Given the description of an element on the screen output the (x, y) to click on. 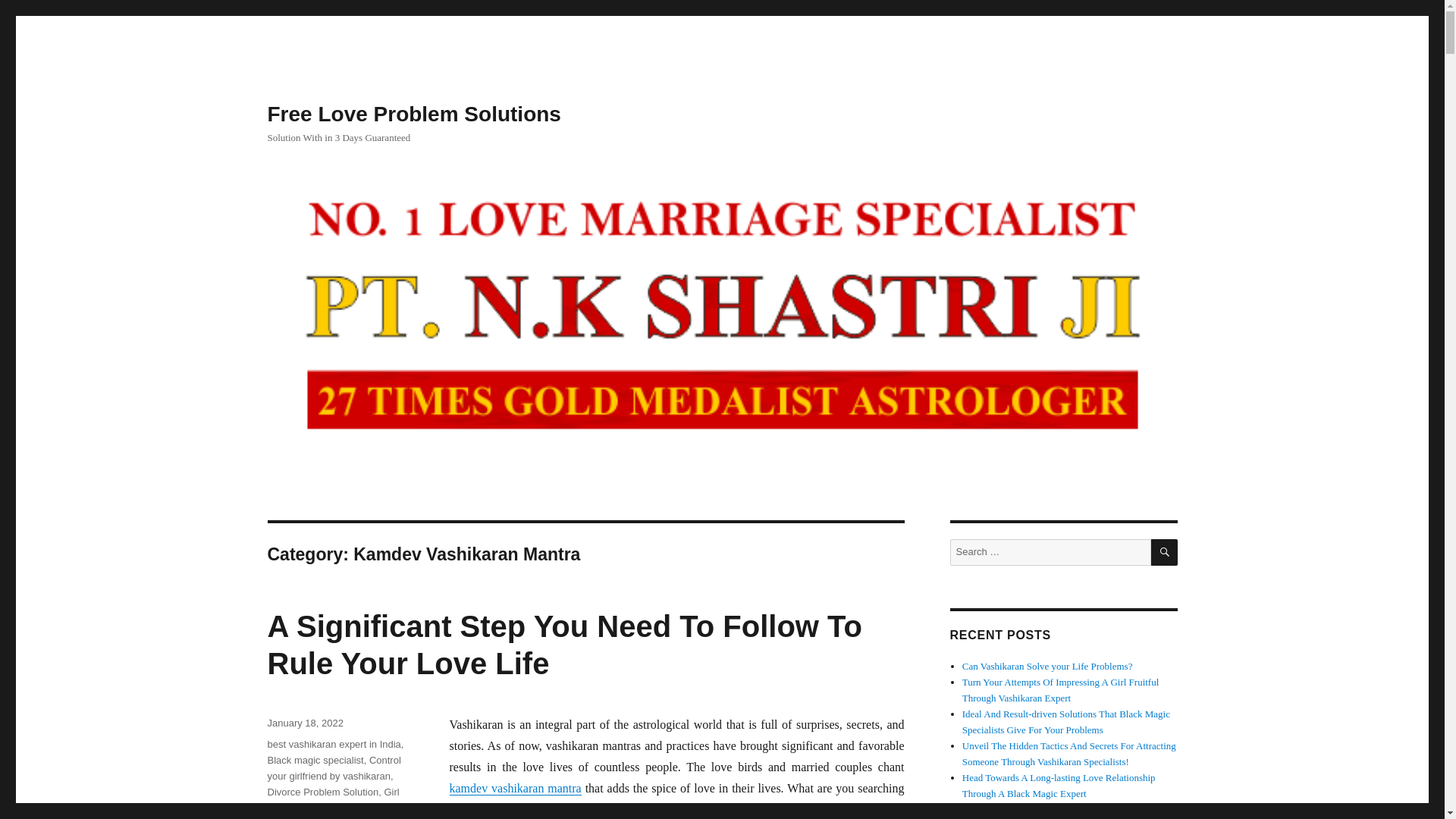
Black magic specialist (314, 759)
Girl vashikaran specialist (332, 800)
kamdev vashikaran mantra (514, 788)
Free Love Problem Solutions (413, 114)
A Significant Step You Need To Follow To Rule Your Love Life (563, 644)
how to give a hard time to enemy (329, 810)
Divorce Problem Solution (322, 791)
Control your girlfriend by vashikaran (333, 768)
January 18, 2022 (304, 722)
best vashikaran expert in India (333, 744)
